Given the description of an element on the screen output the (x, y) to click on. 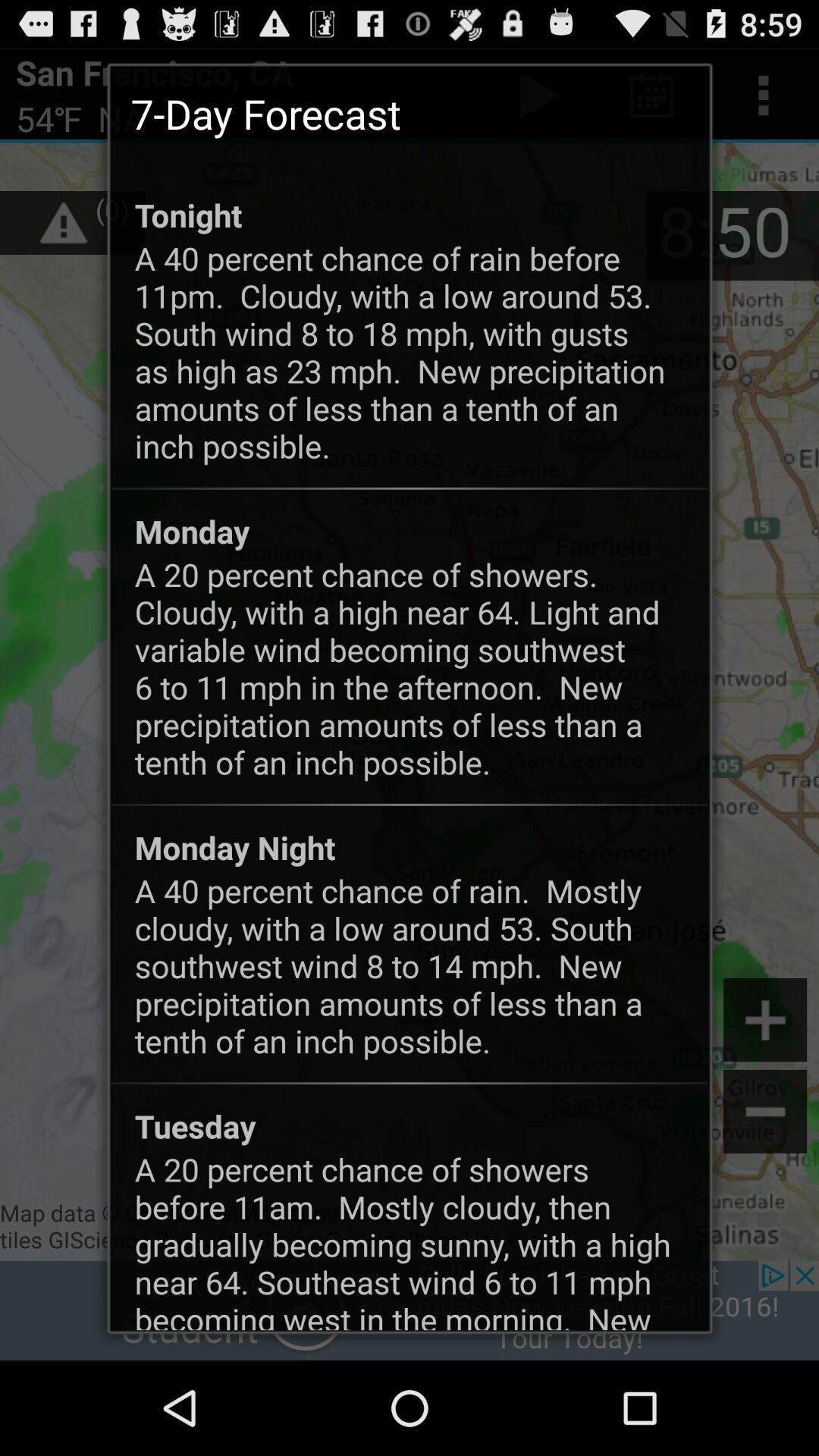
jump until tuesday item (194, 1125)
